Given the description of an element on the screen output the (x, y) to click on. 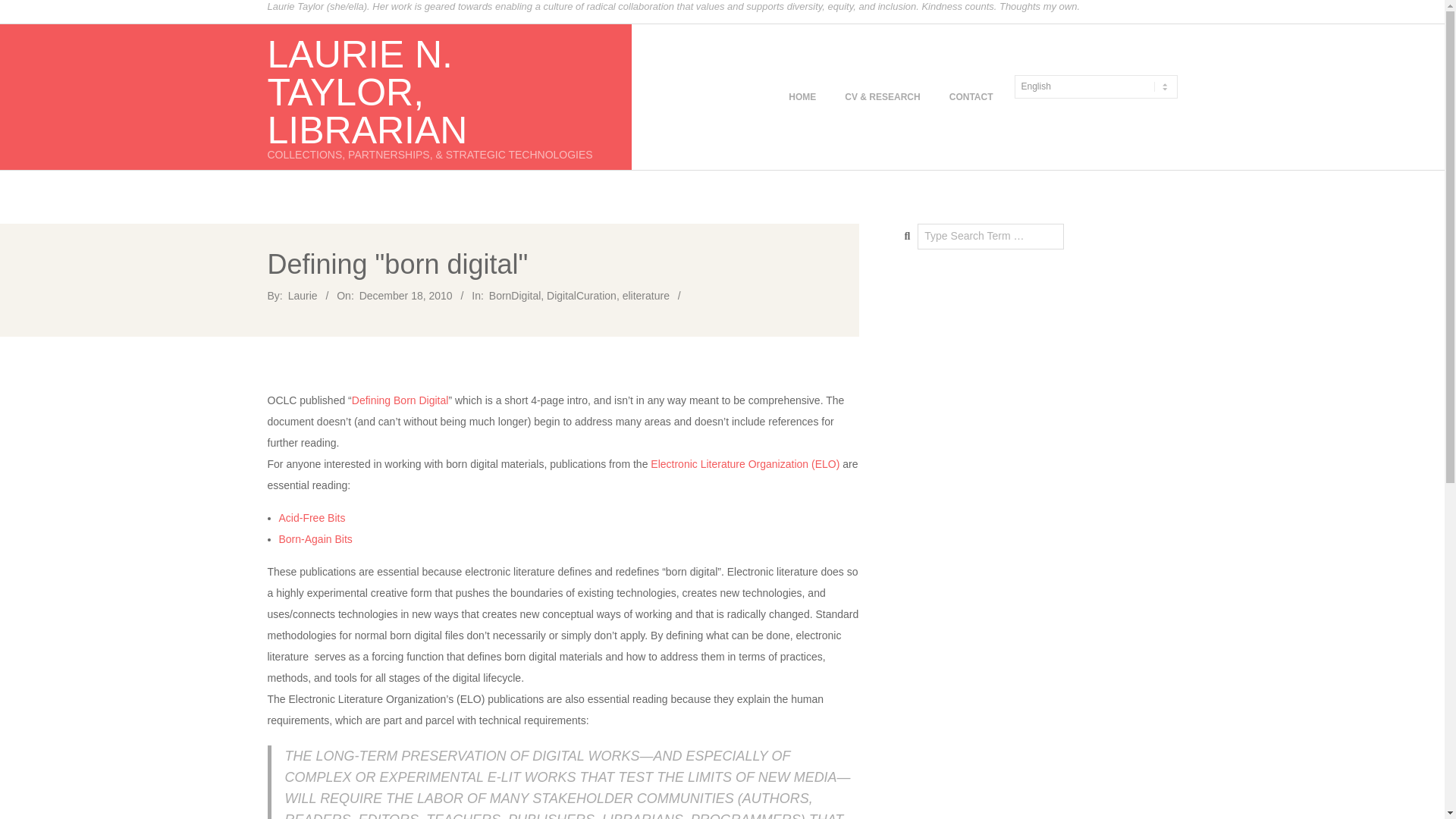
Posts by Laurie (302, 295)
BornDigital (514, 295)
LAURIE N. TAYLOR, LIBRARIAN (366, 92)
eliterature (646, 295)
DigitalCuration (581, 295)
Defining Born Digital (400, 399)
CONTACT (971, 96)
Born-Again Bits (315, 539)
HOME (802, 96)
Laurie (302, 295)
